Given the description of an element on the screen output the (x, y) to click on. 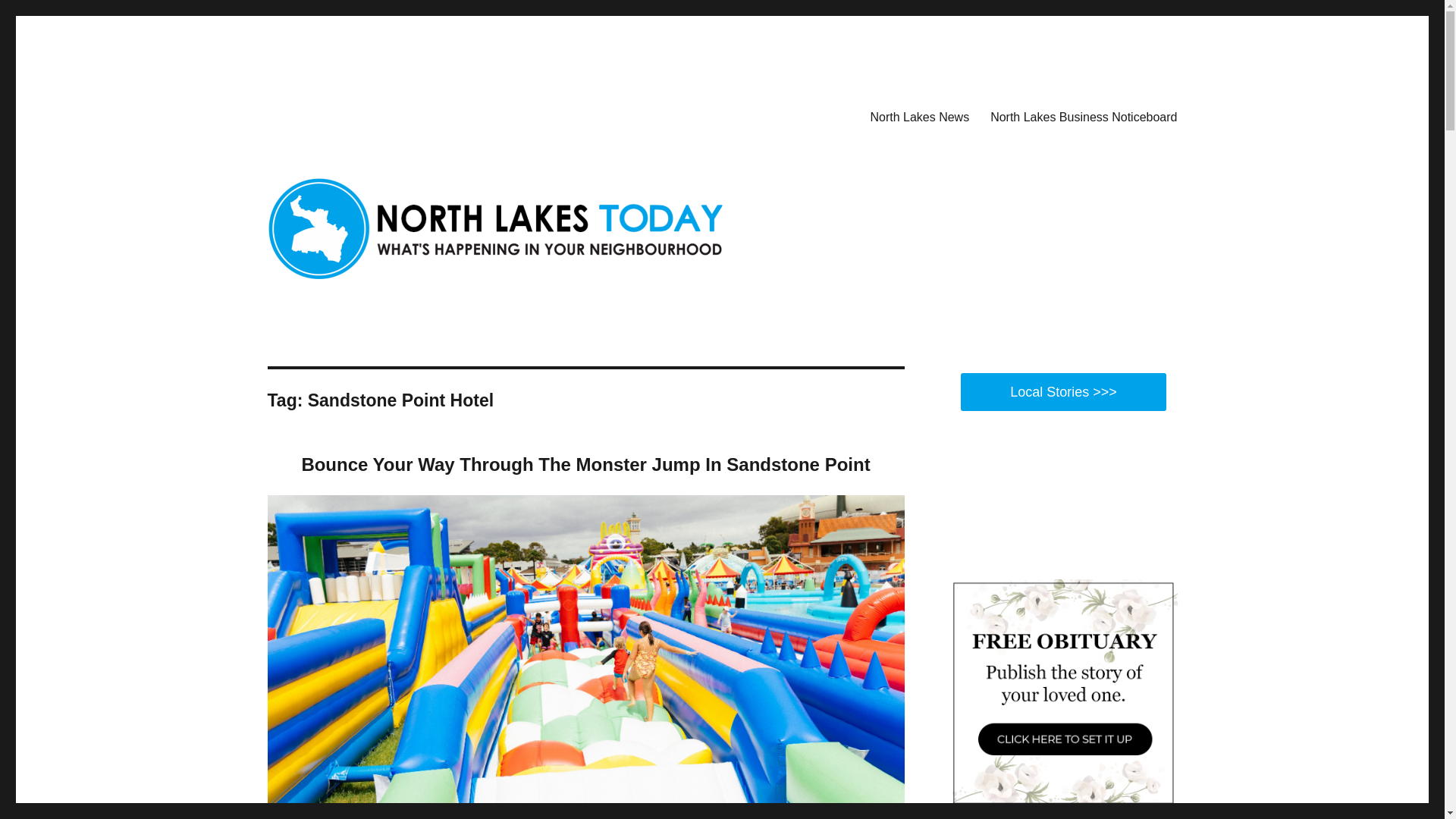
Bounce Your Way Through The Monster Jump In Sandstone Point (585, 464)
North Lakes Today (361, 114)
North Lakes Business Noticeboard (1083, 116)
North Lakes News (919, 116)
